Given the description of an element on the screen output the (x, y) to click on. 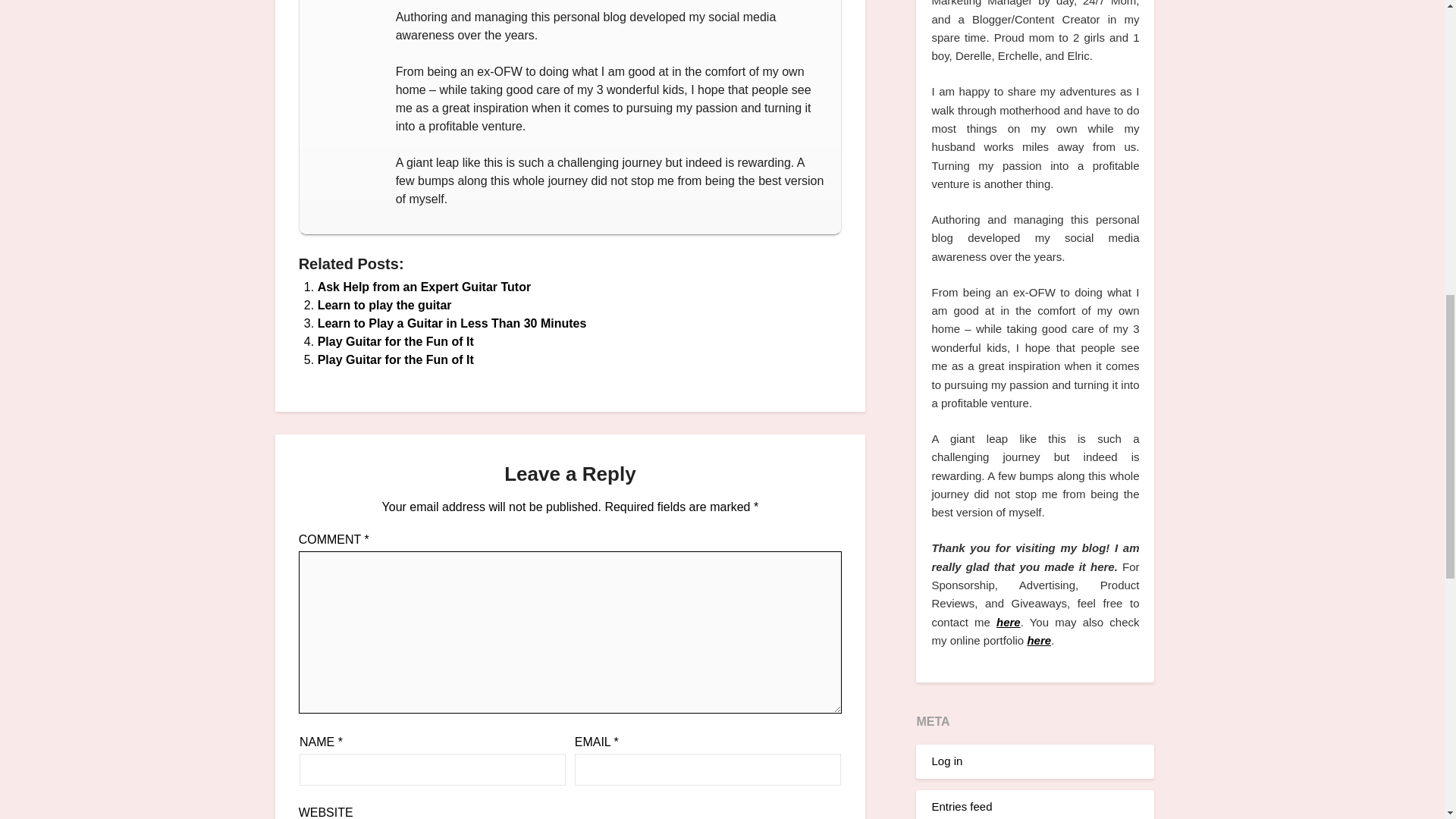
Play Guitar for the Fun of It (395, 341)
here (1007, 621)
Play Guitar for the Fun of It (395, 359)
Learn to Play a Guitar in Less Than 30 Minutes (451, 323)
Ask Help from an Expert Guitar Tutor (424, 286)
Play Guitar for the Fun of It (395, 341)
Play Guitar for the Fun of It (395, 359)
Learn to play the guitar (384, 305)
Ask Help from an Expert Guitar Tutor (424, 286)
Entries feed (961, 806)
Learn to Play a Guitar in Less Than 30 Minutes (451, 323)
Learn to play the guitar (384, 305)
here (1038, 640)
Log in (946, 760)
